Given the description of an element on the screen output the (x, y) to click on. 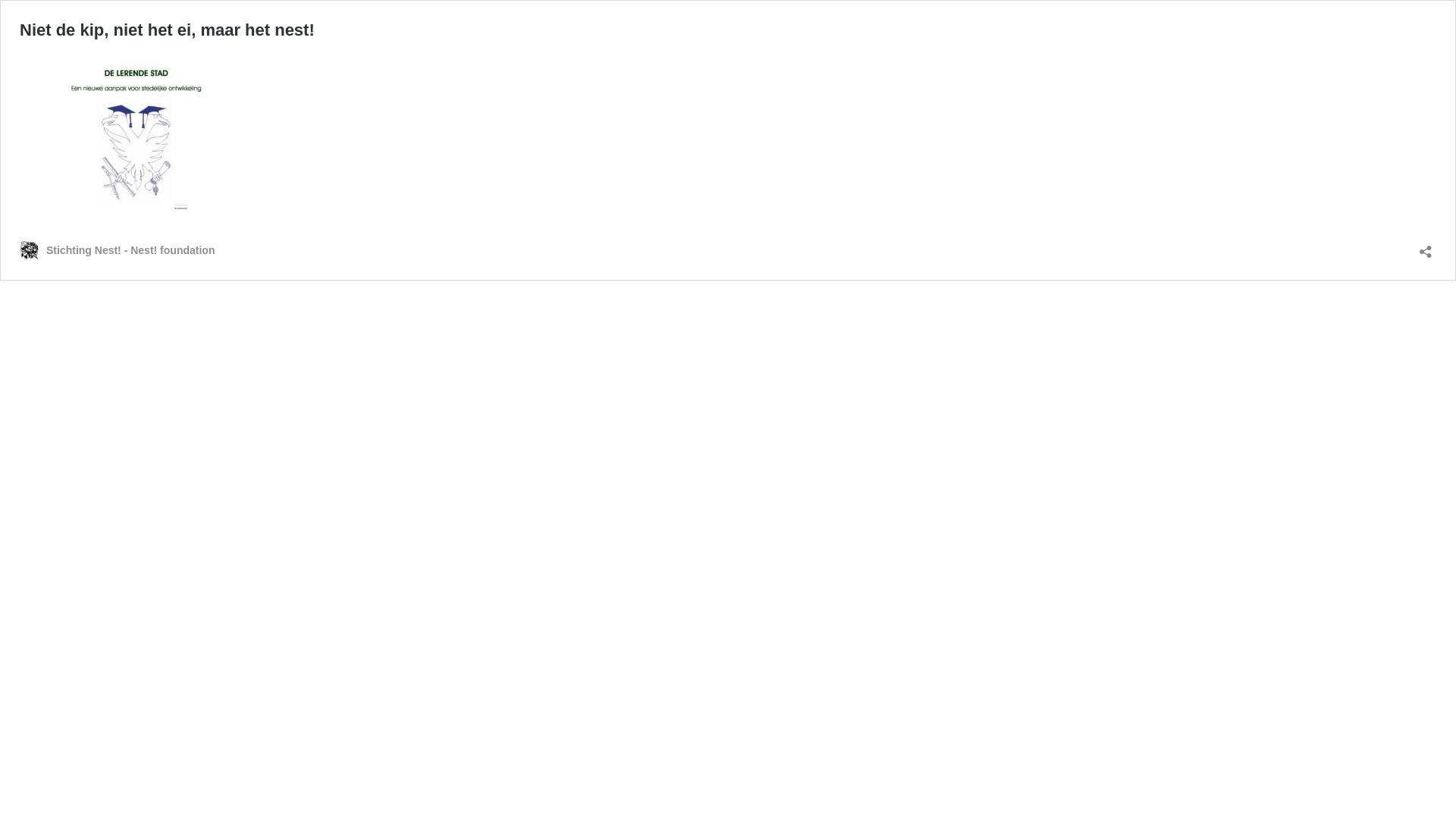
Niet de kip, niet het ei, maar het nest! Element type: text (166, 29)
Stichting Nest! - Nest! foundation Element type: text (116, 250)
